Given the description of an element on the screen output the (x, y) to click on. 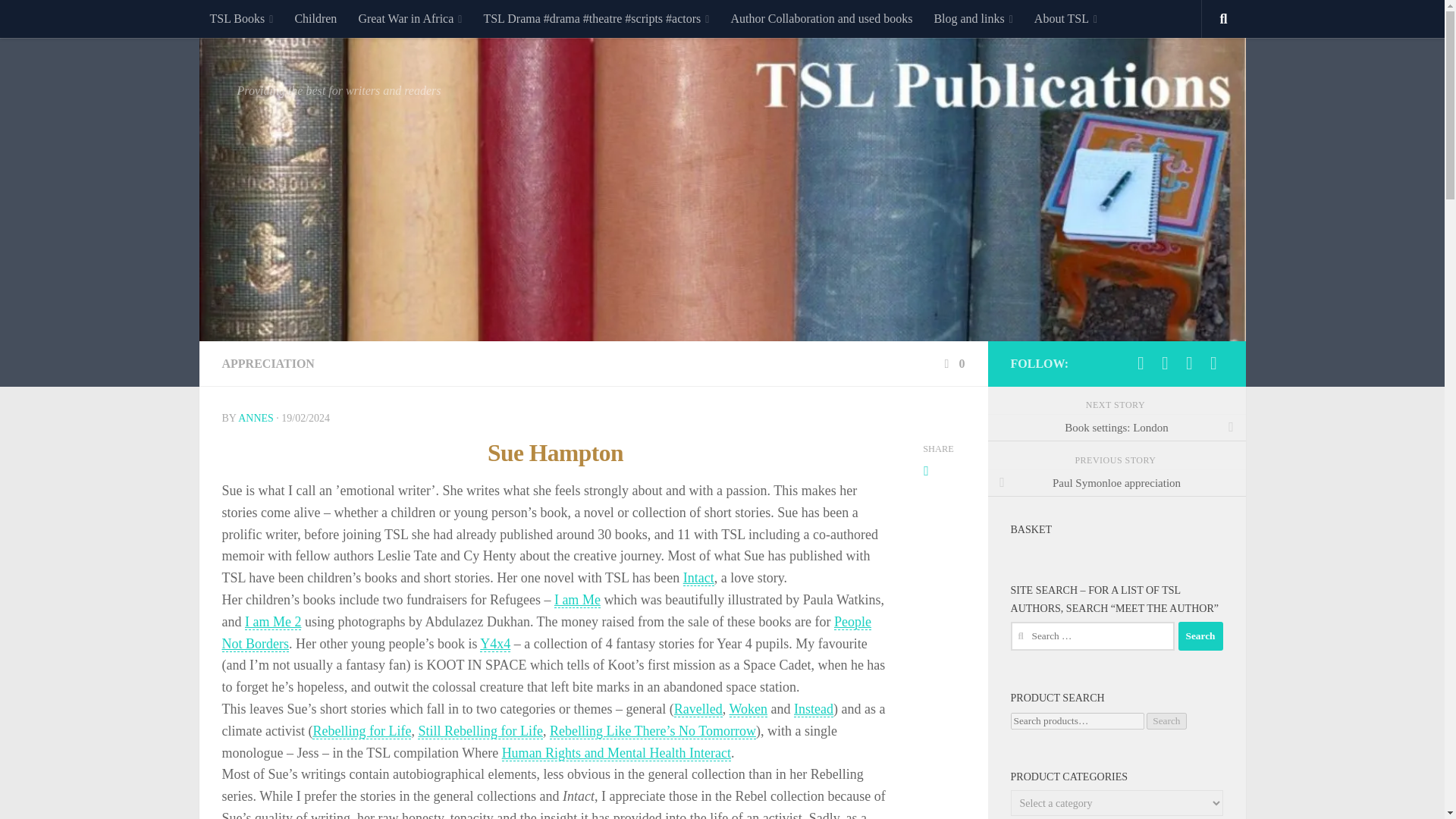
Follow us on Pinterest (1213, 362)
I am Me 2 (272, 621)
ANNES (255, 418)
Intact (698, 578)
Y4x4 (495, 643)
About TSL (1065, 18)
Children (315, 18)
I am Me (576, 600)
Blog and links (973, 18)
APPRECIATION (267, 363)
